Given the description of an element on the screen output the (x, y) to click on. 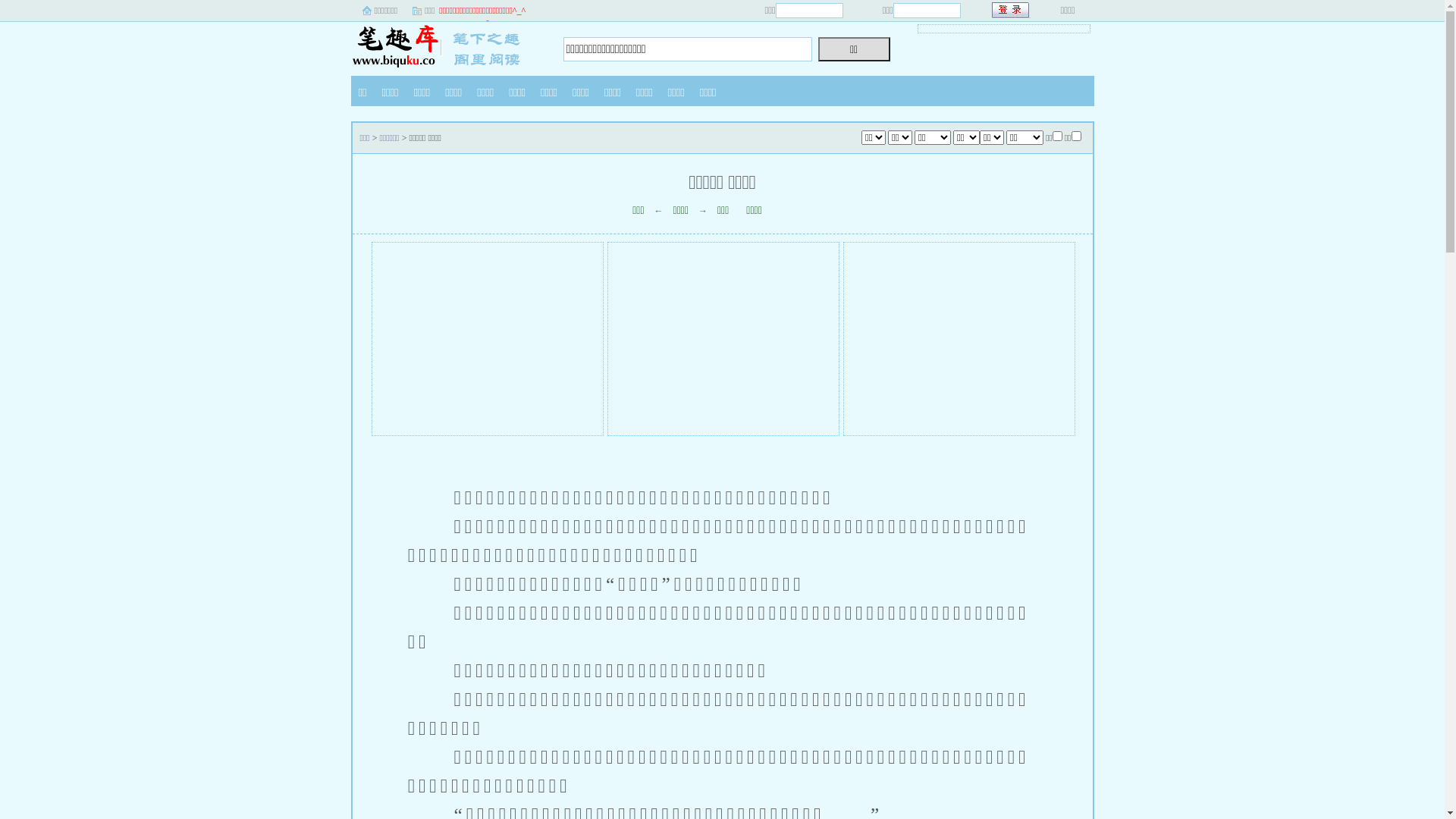
  Element type: text (1010, 10)
